Given the description of an element on the screen output the (x, y) to click on. 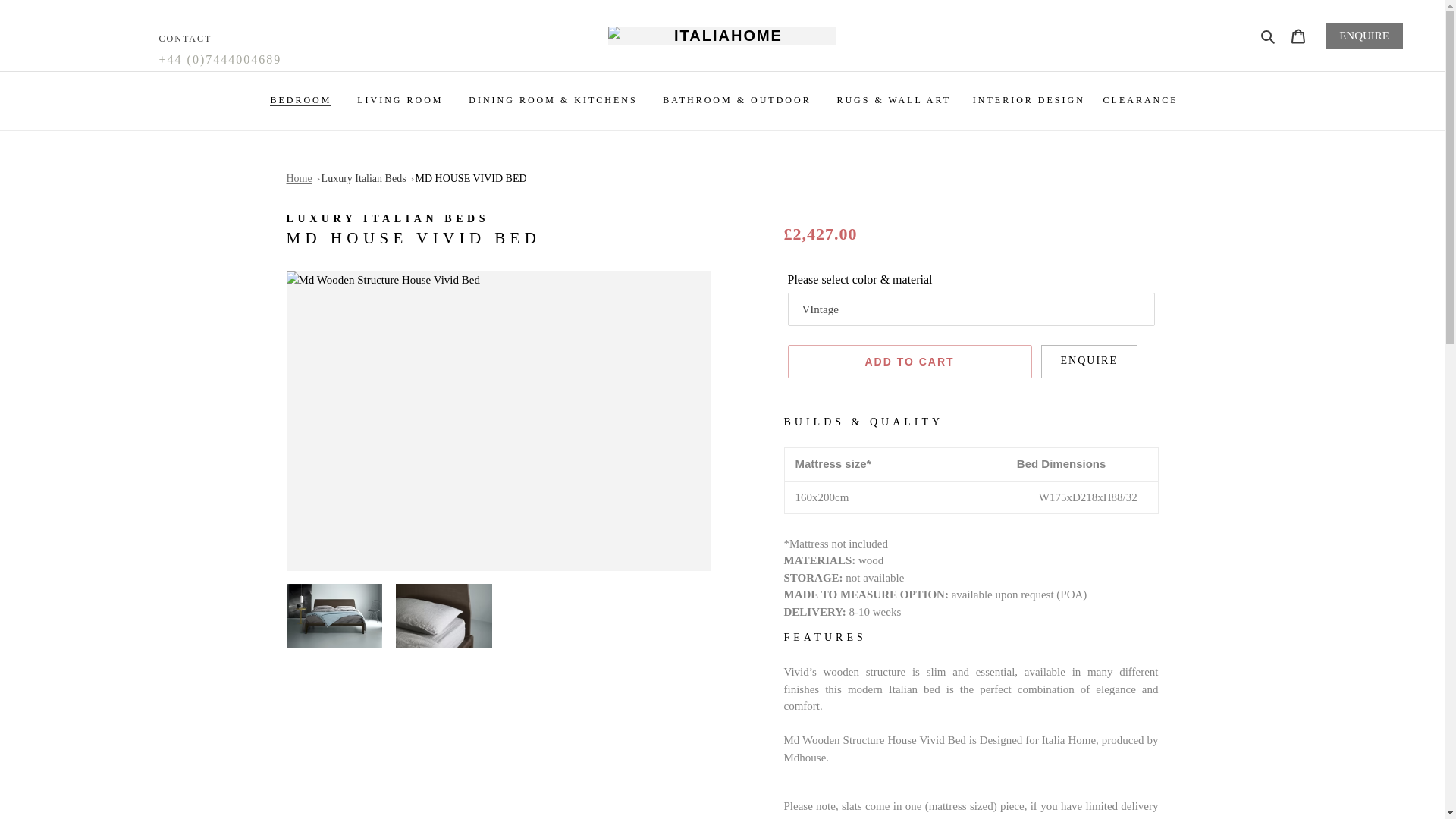
CONTACT (185, 38)
Search (1268, 35)
Cart (1298, 35)
ENQUIRE (1363, 35)
